Given the description of an element on the screen output the (x, y) to click on. 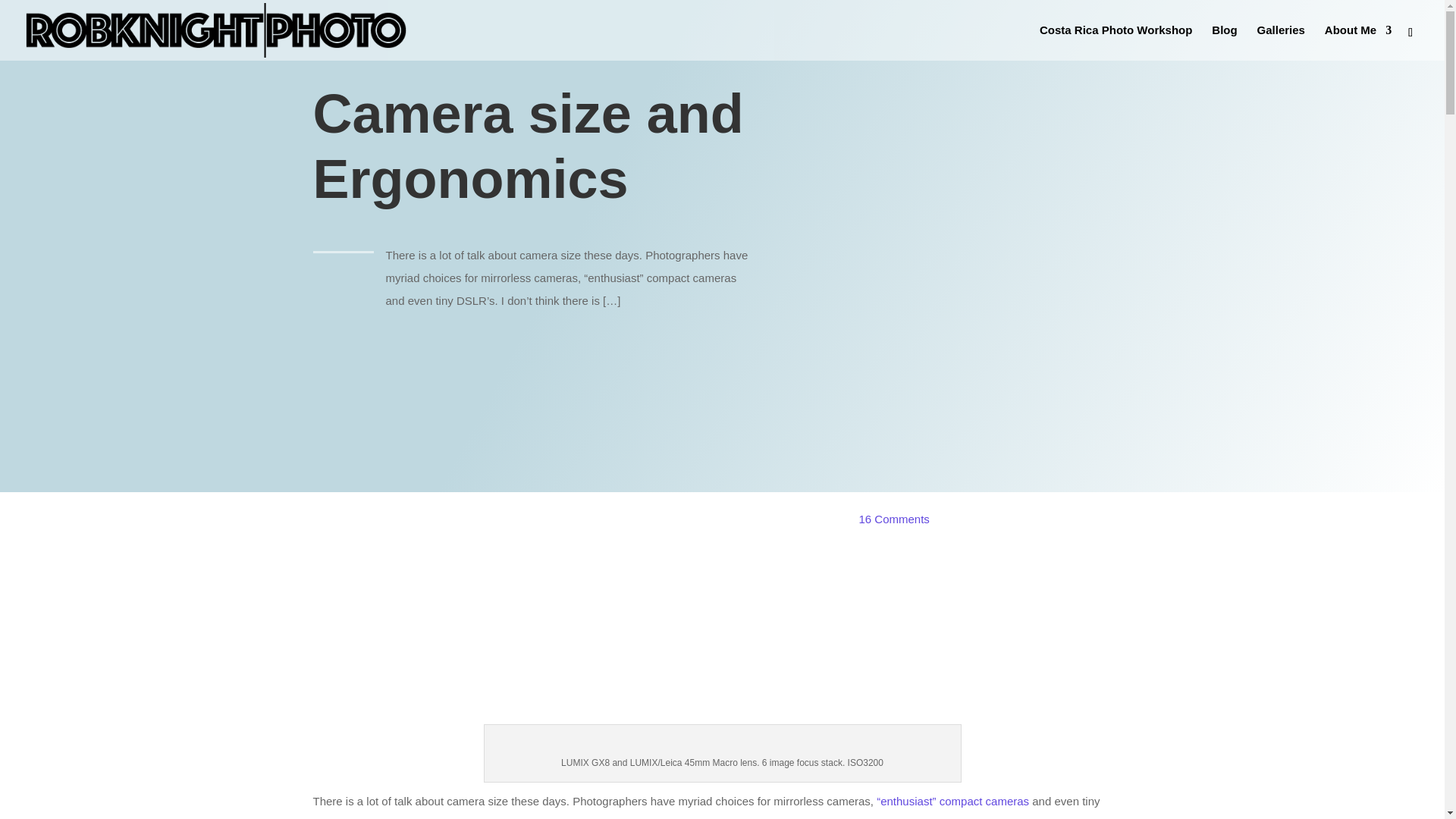
Galleries (1280, 42)
Costa Rica Photo Workshop (1115, 42)
16 Comments (893, 518)
About Me (1357, 42)
